Given the description of an element on the screen output the (x, y) to click on. 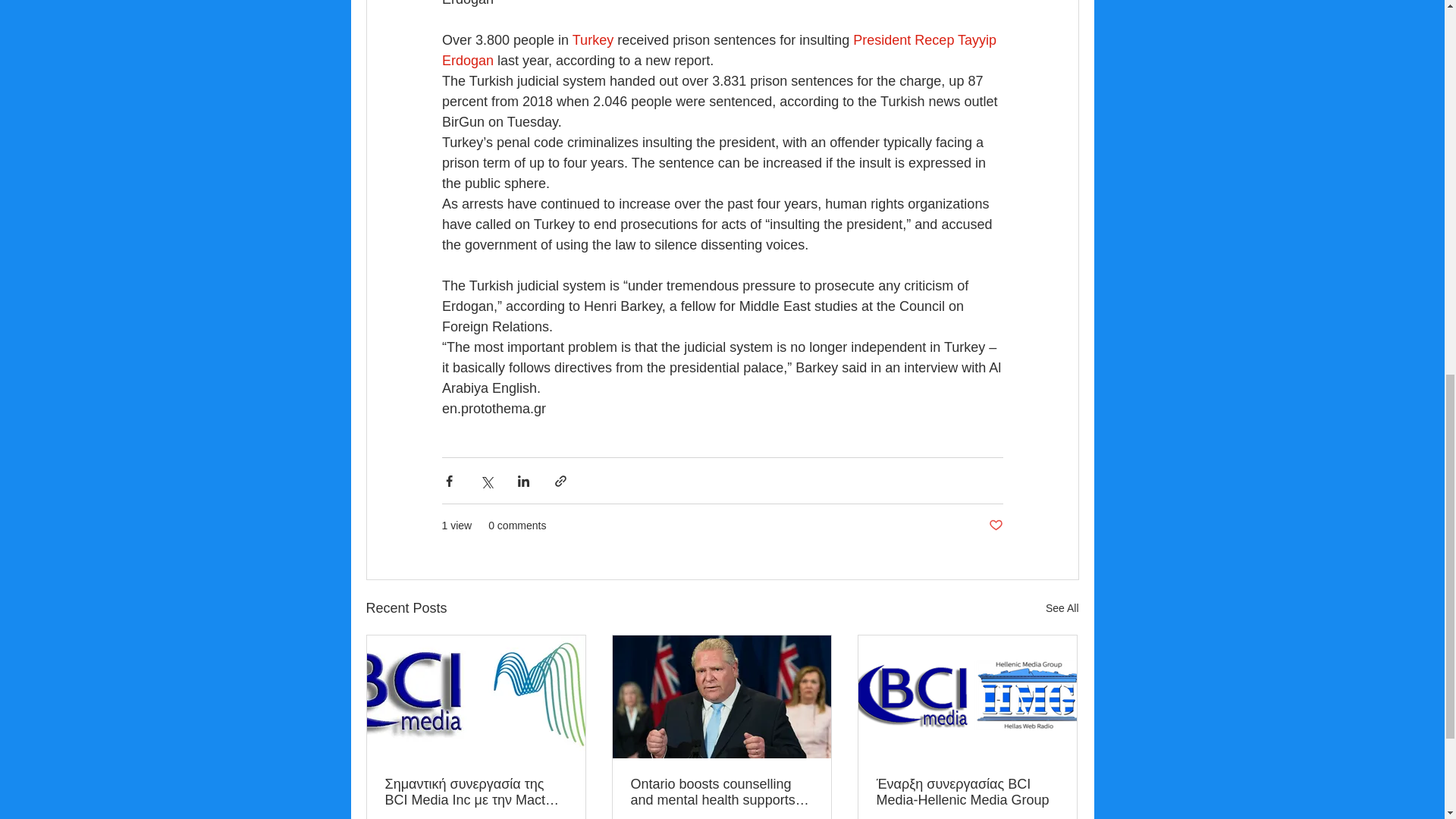
See All (1061, 608)
President Recep Tayyip Erdogan (719, 49)
Post not marked as liked (995, 525)
Turkey (592, 39)
